Given the description of an element on the screen output the (x, y) to click on. 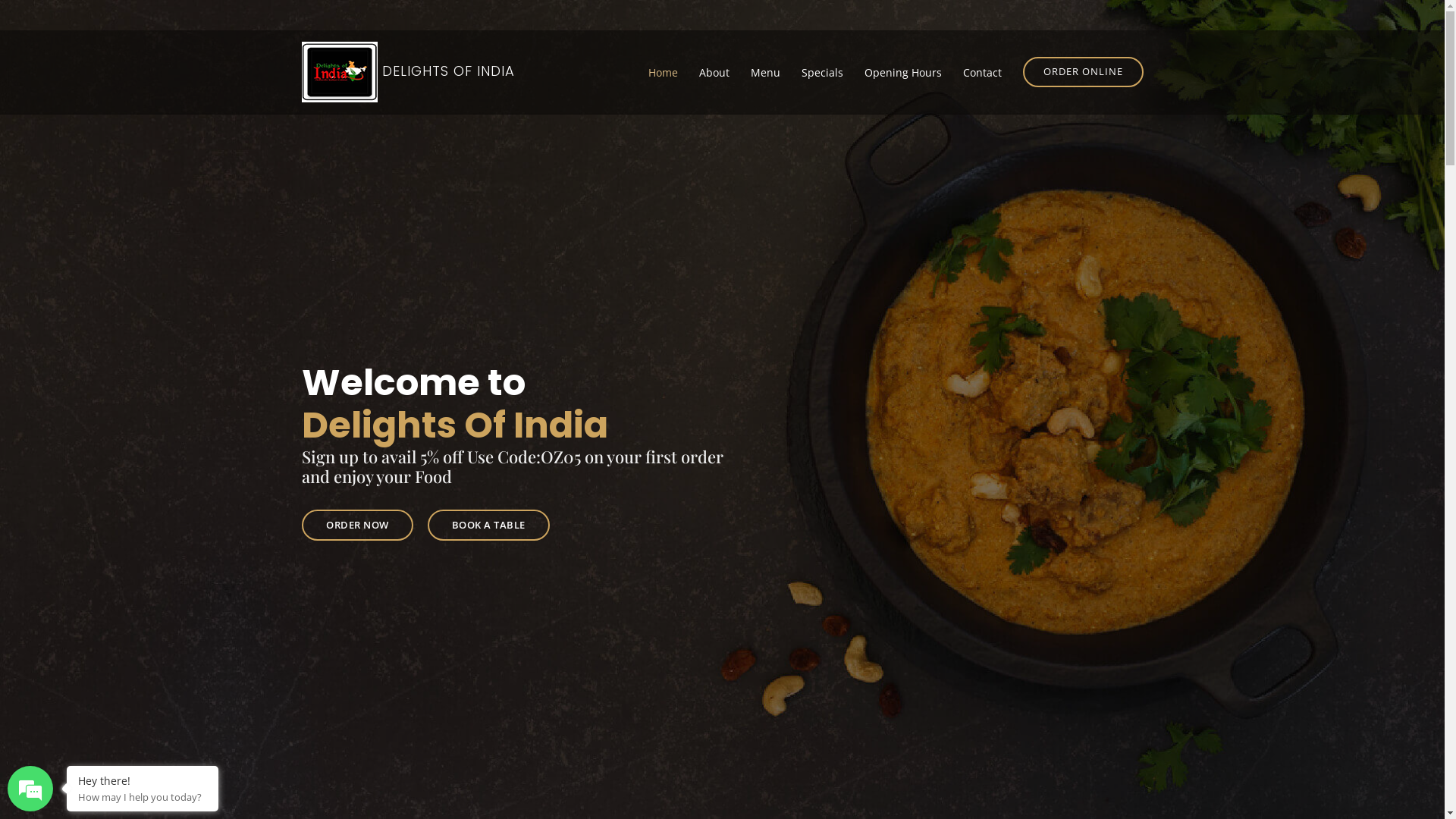
About Element type: text (714, 71)
Opening Hours Element type: text (902, 71)
Home Element type: text (662, 71)
Menu Element type: text (765, 71)
ORDER NOW Element type: text (357, 524)
ORDER ONLINE Element type: text (1082, 71)
BOOK A TABLE Element type: text (487, 524)
Contact Element type: text (982, 71)
Specials Element type: text (821, 71)
